Given the description of an element on the screen output the (x, y) to click on. 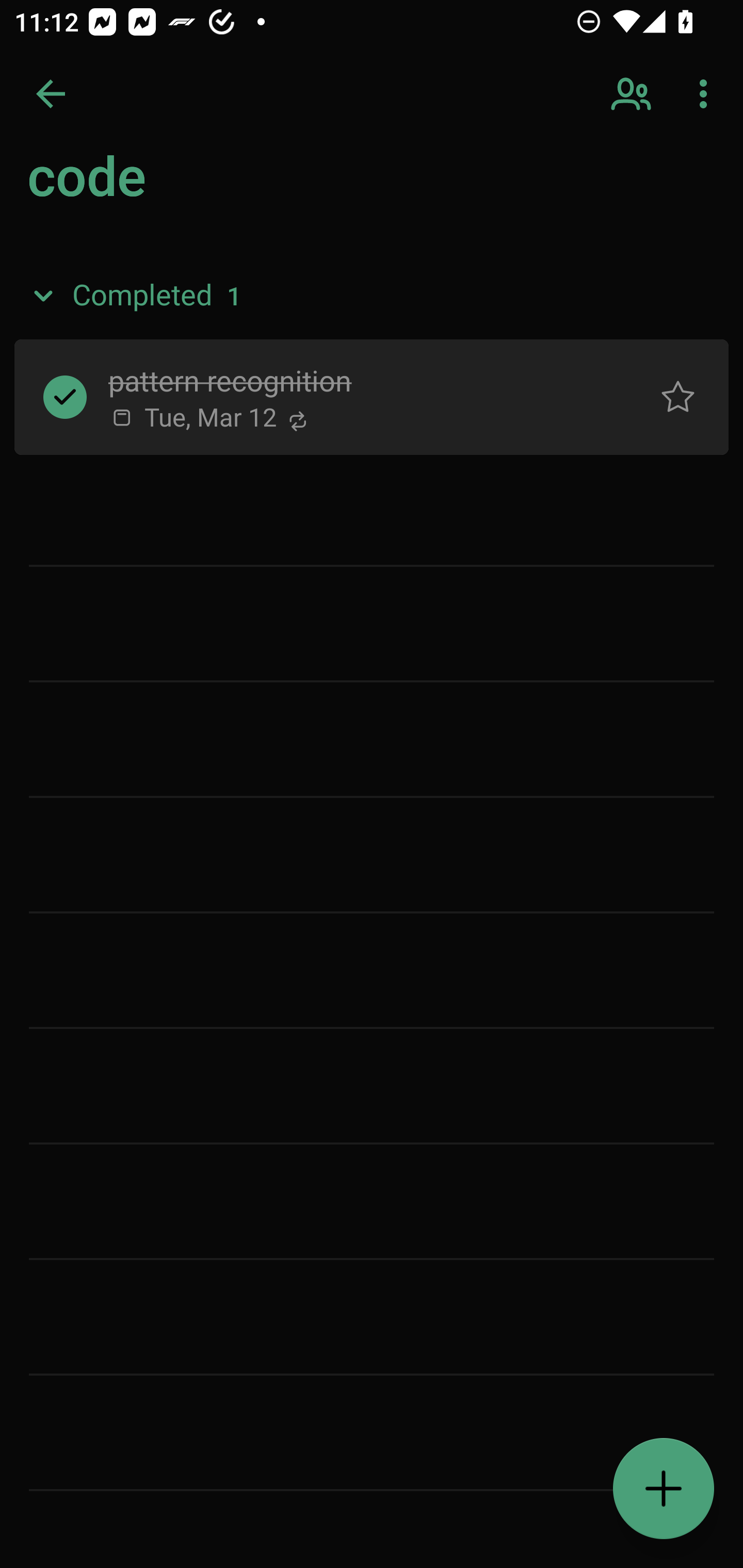
Back (50, 93)
Sharing options (632, 93)
More options (706, 93)
My Day, 0 tasks (182, 187)
Completed, 1 item, Expanded Completed 1 (371, 295)
Completed task pattern recognition, Button (64, 397)
Normal task pattern recognition, Button (677, 397)
Add a task (663, 1488)
